Given the description of an element on the screen output the (x, y) to click on. 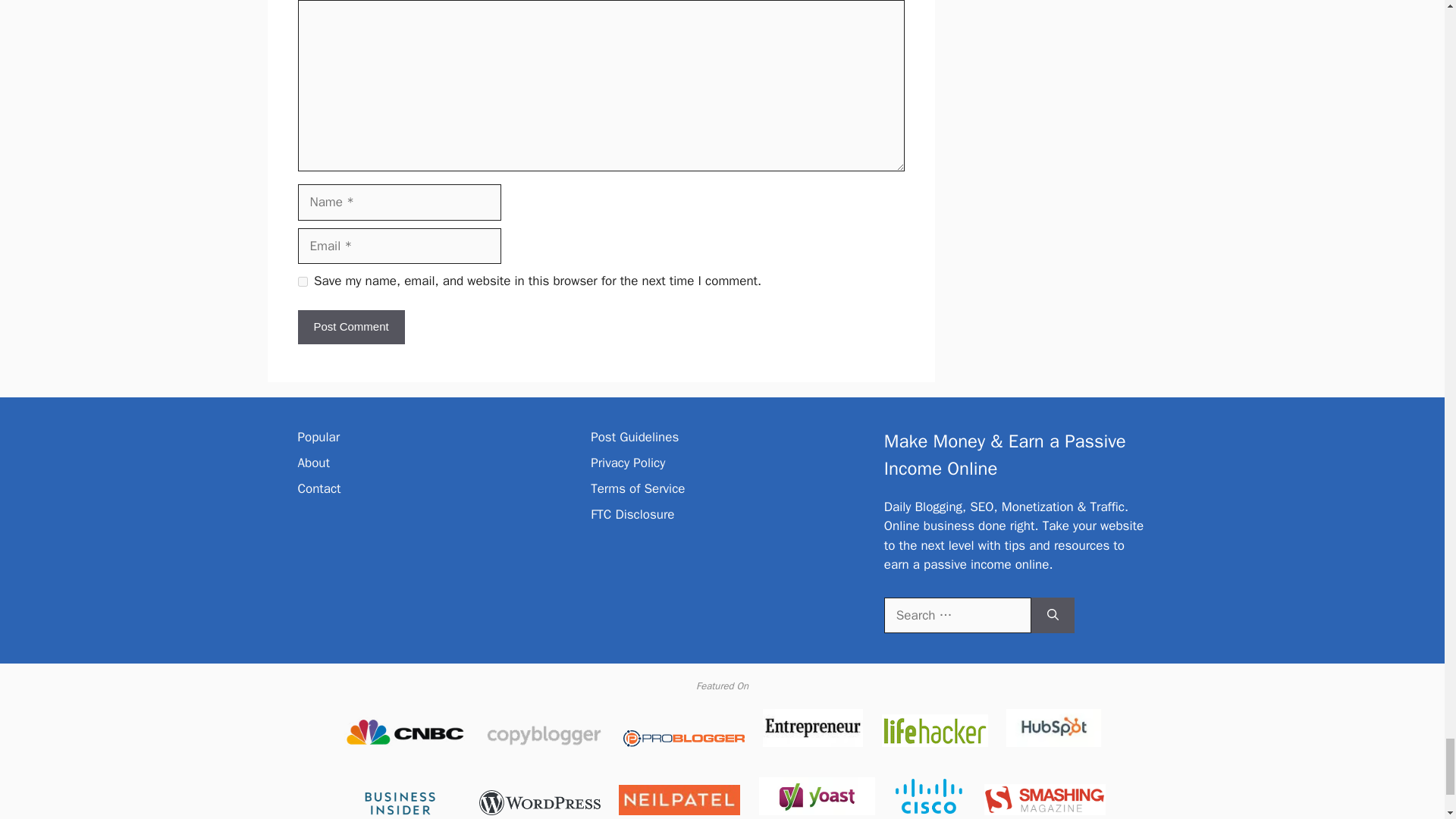
yes (302, 281)
Post Comment (350, 326)
